Given the description of an element on the screen output the (x, y) to click on. 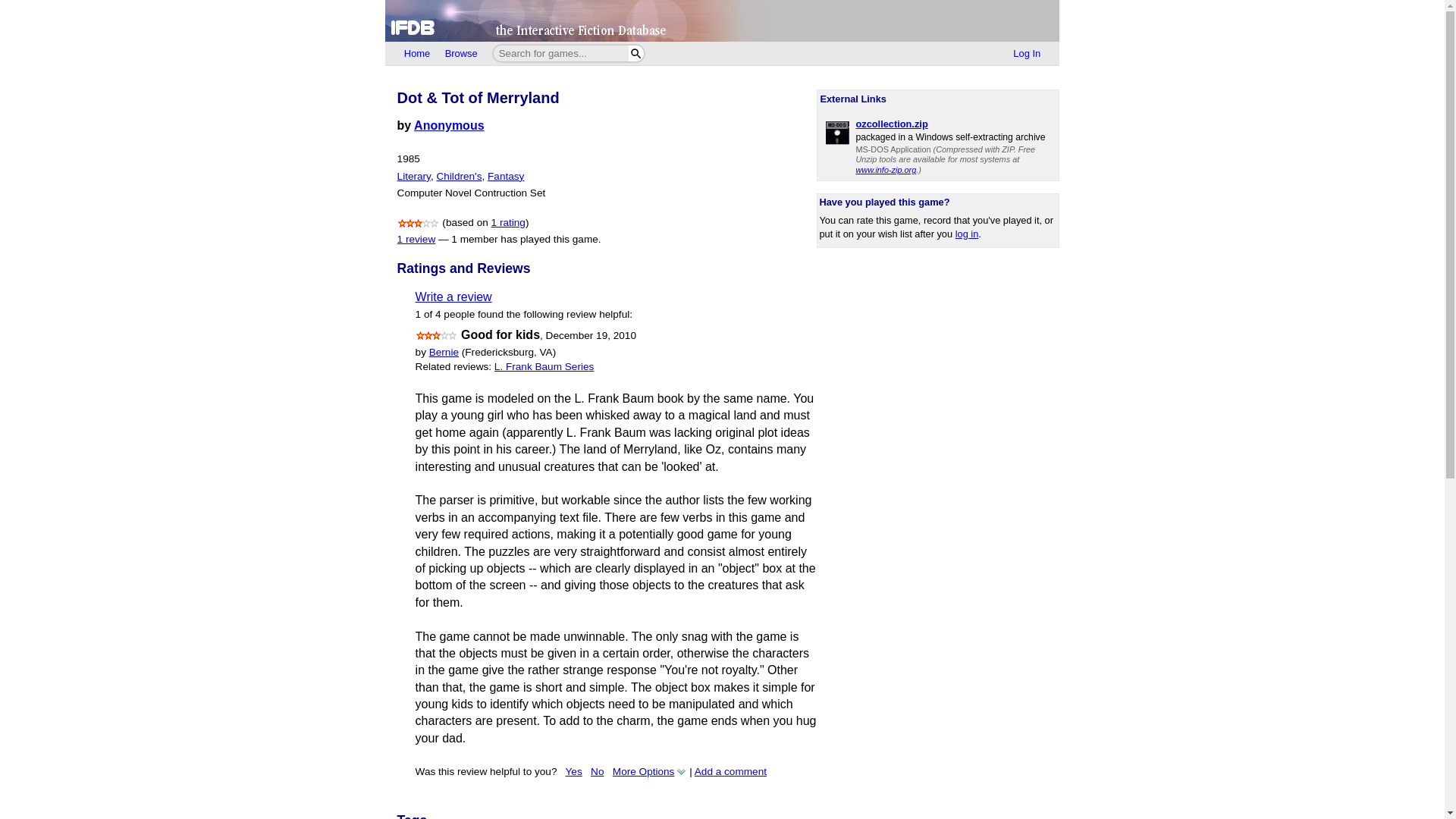
Home (417, 53)
More Options (649, 771)
Yes (574, 771)
View all ratings and reviews for this game (508, 222)
Children's (458, 175)
Anonymous (448, 124)
Browse (461, 53)
3 Stars (418, 223)
log in (966, 233)
3 Stars (436, 335)
